Given the description of an element on the screen output the (x, y) to click on. 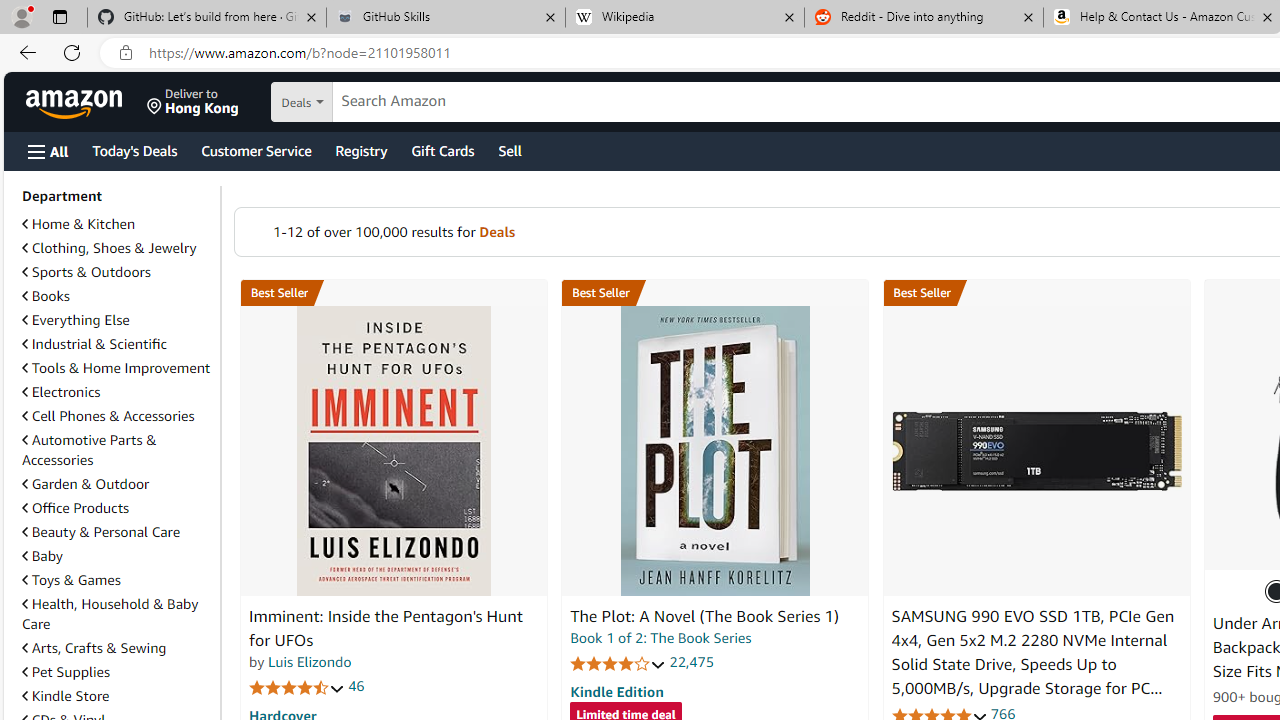
Baby (41, 556)
Tools & Home Improvement (116, 368)
Kindle Store (65, 695)
The Plot: A Novel (The Book Series 1) (703, 616)
22,475 (691, 662)
Garden & Outdoor (85, 484)
Kindle Store (117, 696)
Search in (371, 102)
